Given the description of an element on the screen output the (x, y) to click on. 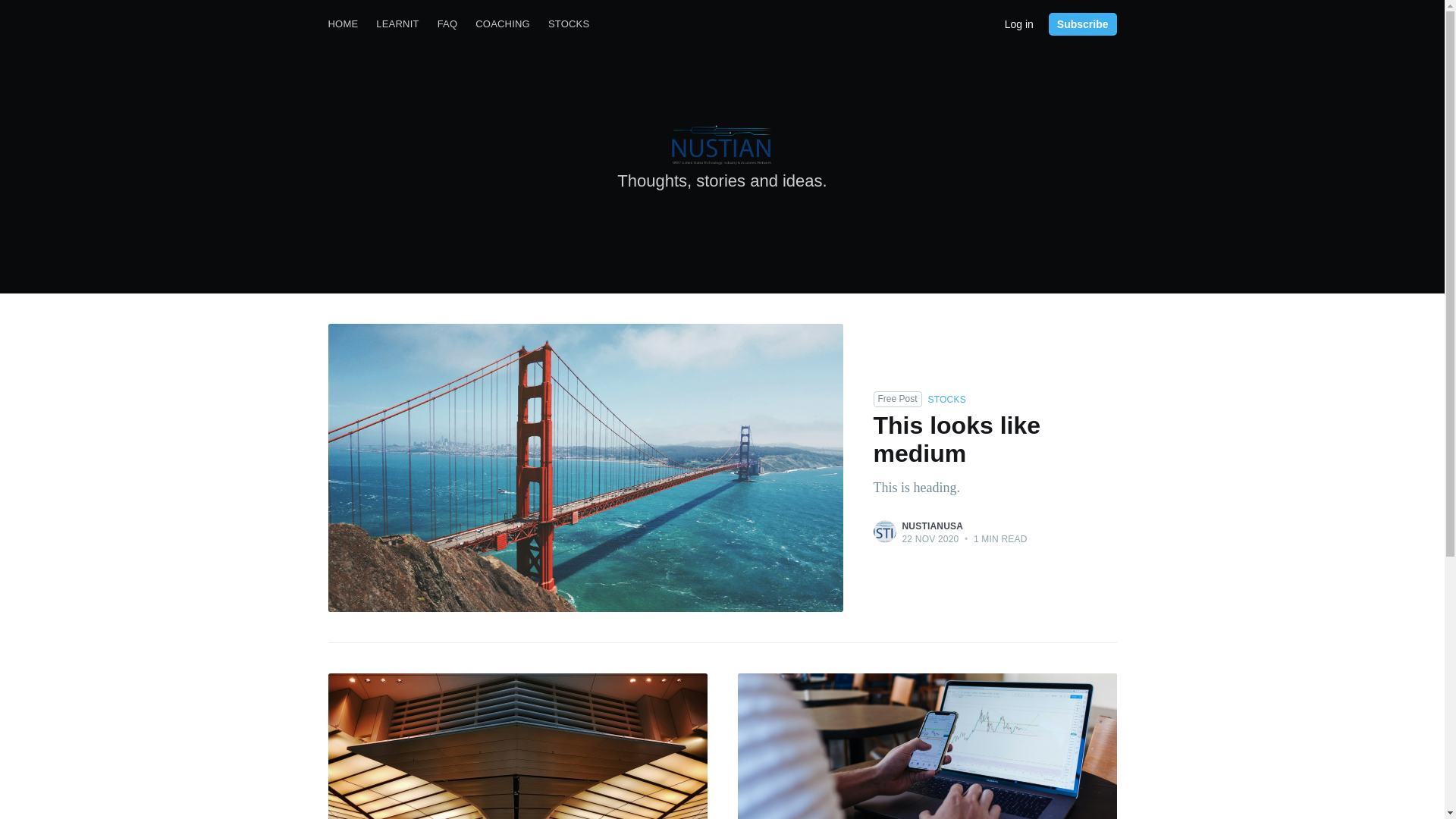
HOME (979, 454)
Log in (342, 24)
STOCKS (1018, 23)
Subscribe (568, 24)
NUSTIANUSA (1082, 23)
LEARNIT (932, 525)
FAQ (397, 24)
COACHING (447, 24)
